Given the description of an element on the screen output the (x, y) to click on. 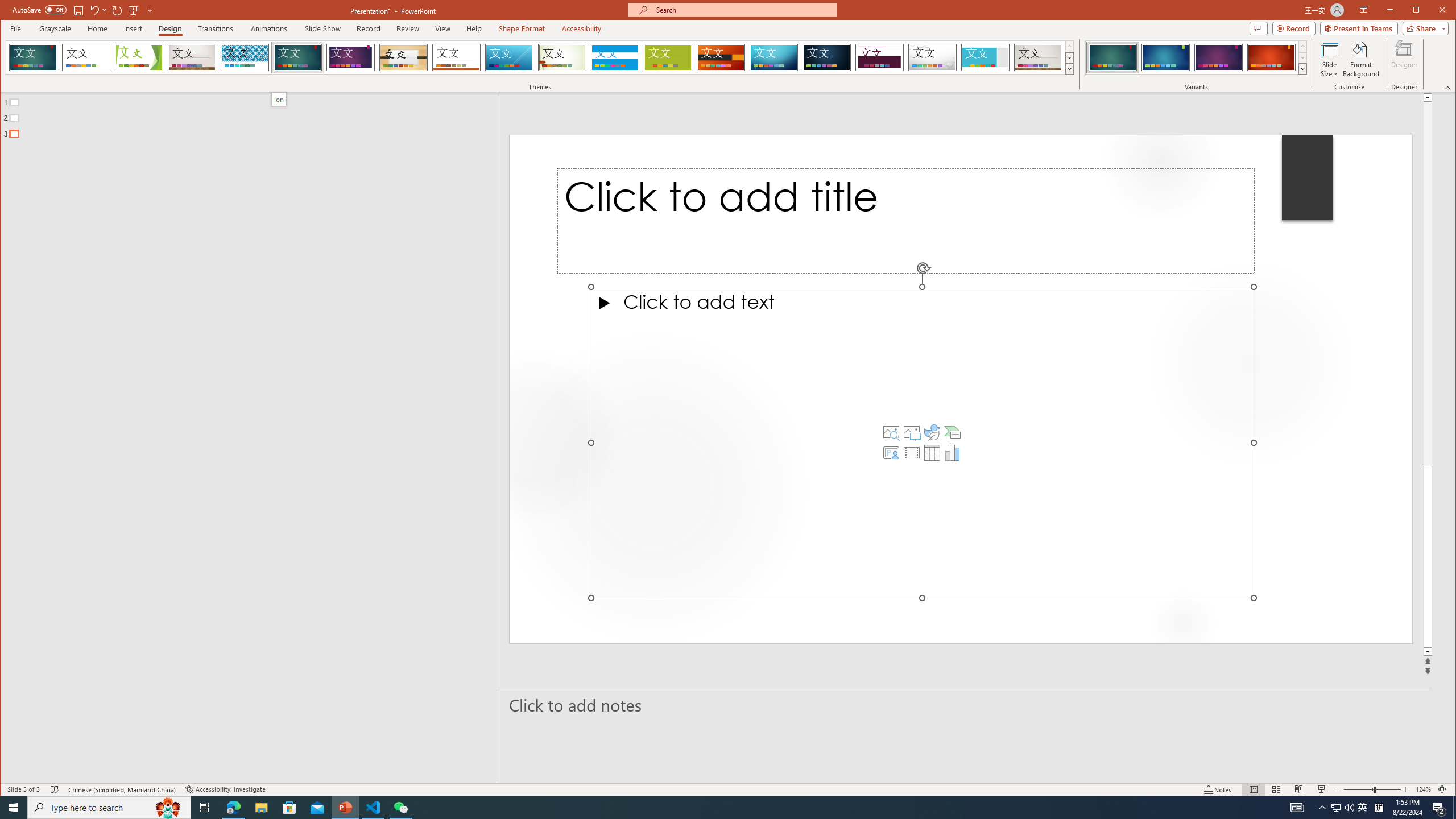
Integral (244, 57)
Ion Variant 4 (1270, 57)
Ion Variant 3 (1218, 57)
Droplet (932, 57)
Themes (1069, 68)
Organic (403, 57)
Insert Video (911, 452)
AutomationID: ThemeVariantsGallery (1196, 57)
Banded (615, 57)
